Given the description of an element on the screen output the (x, y) to click on. 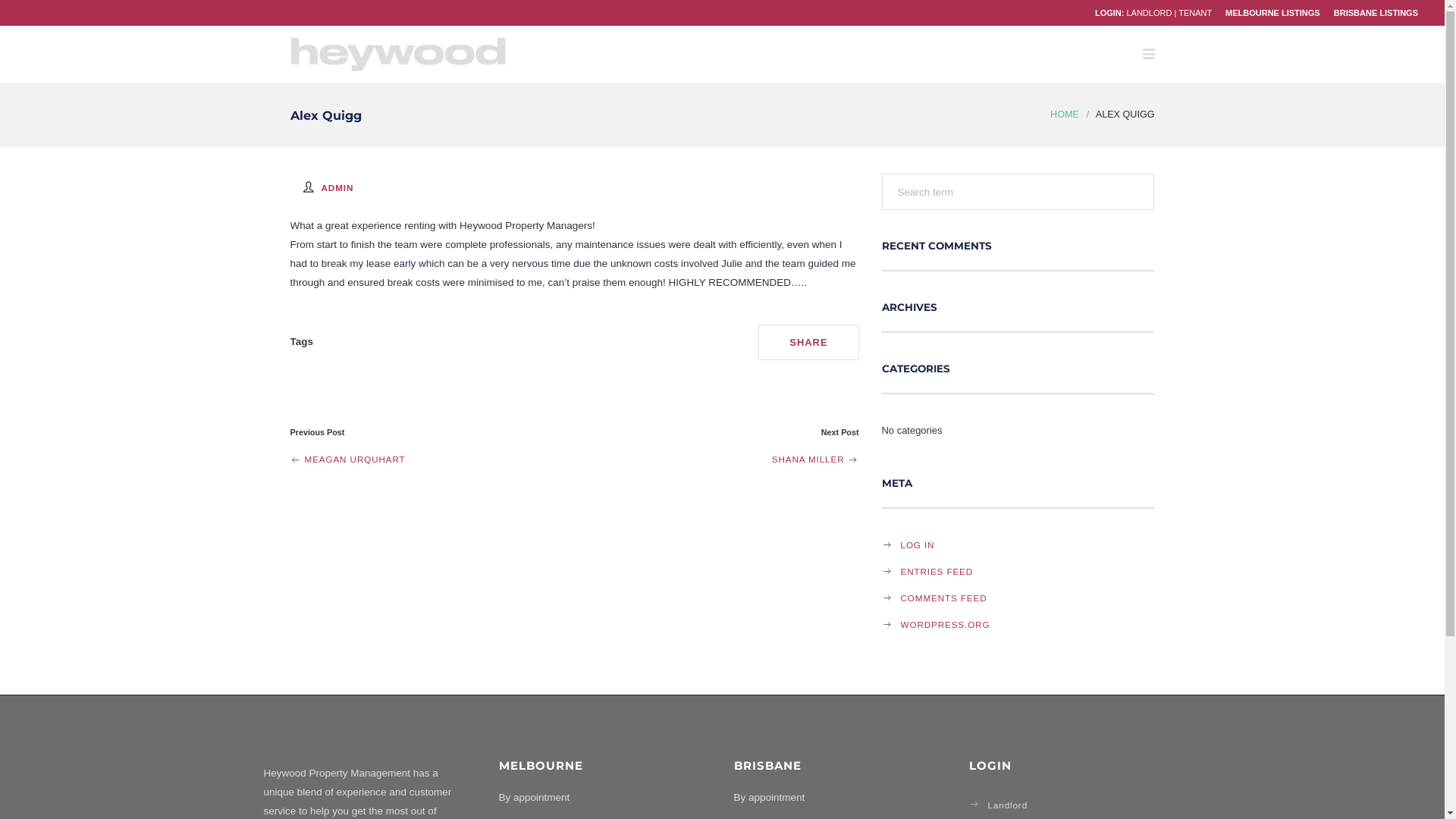
MELBOURNE LISTINGS Element type: text (1272, 12)
SHANA MILLER  Element type: text (815, 459)
LOG IN Element type: text (909, 544)
TENANT Element type: text (1194, 12)
BRISBANE LISTINGS Element type: text (1375, 12)
COMMENTS FEED Element type: text (935, 597)
ENTRIES FEED Element type: text (928, 570)
HOME Element type: text (1064, 114)
LANDLORD Element type: text (1148, 12)
ADMIN Element type: text (337, 187)
WORDPRESS.ORG Element type: text (937, 624)
Landlord Element type: text (1000, 803)
 MEAGAN URQUHART Element type: text (346, 459)
